Given the description of an element on the screen output the (x, y) to click on. 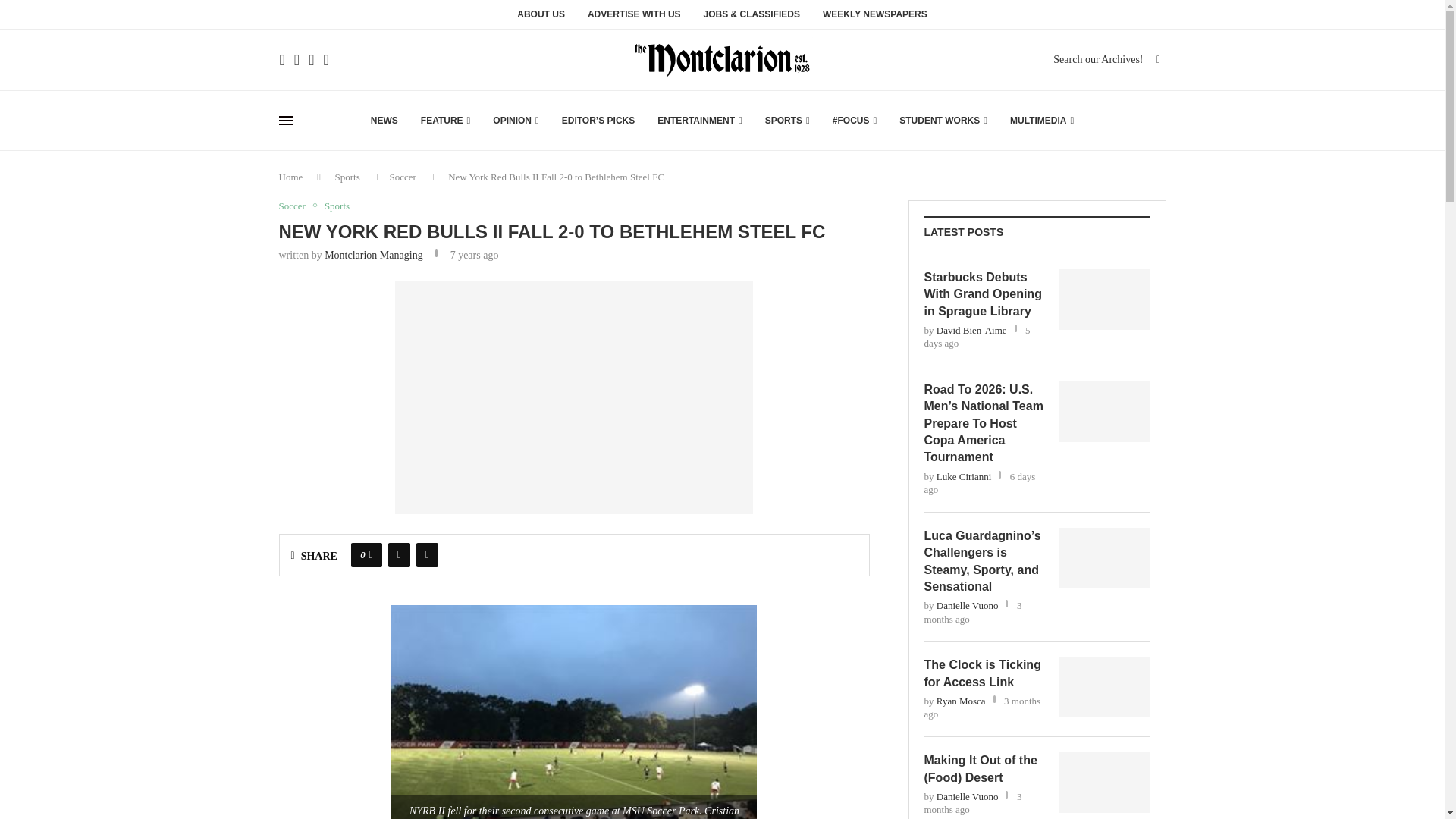
Picture1 (573, 397)
Starbucks Debuts With Grand Opening in Sprague Library (983, 294)
SPORTS (787, 120)
Montclarion Managing (373, 255)
WEEKLY NEWSPAPERS (874, 18)
OPINION (515, 120)
FEATURE (445, 120)
ENTERTAINMENT (700, 120)
Starbucks Debuts With Grand Opening in Sprague Library (1104, 299)
ABOUT US (540, 18)
